Given the description of an element on the screen output the (x, y) to click on. 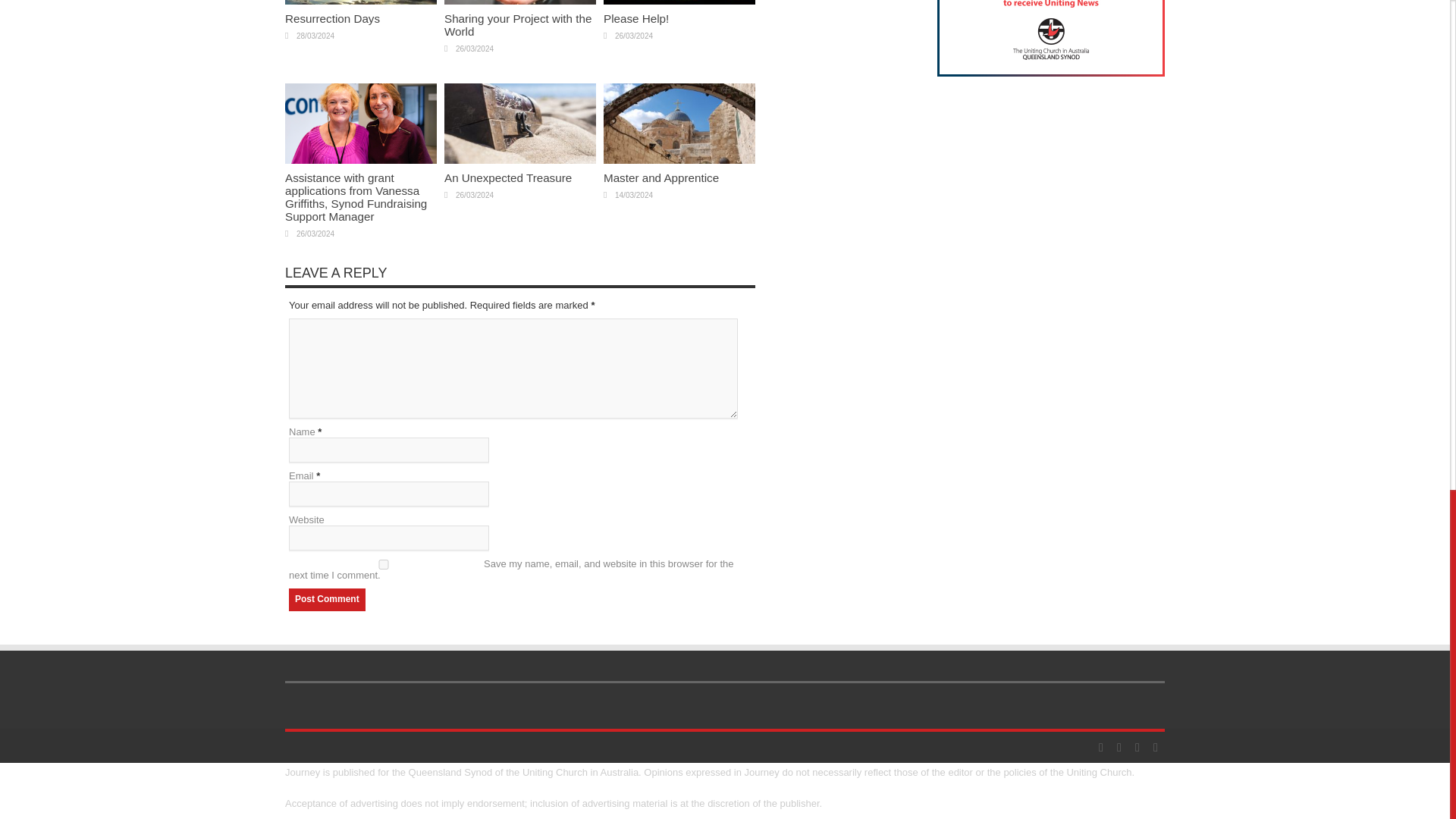
Permalink to Sharing your Project with the World (519, 3)
yes (383, 564)
Permalink to An Unexpected Treasure (508, 177)
Post Comment (326, 599)
Permalink to Sharing your Project with the World (517, 24)
Master and Apprentice (661, 177)
Permalink to Resurrection Days (360, 3)
An Unexpected Treasure (508, 177)
Permalink to Resurrection Days (332, 18)
Please Help! (636, 18)
Permalink to An Unexpected Treasure (519, 160)
Resurrection Days (332, 18)
Sharing your Project with the World (517, 24)
Permalink to Please Help! (679, 3)
